Given the description of an element on the screen output the (x, y) to click on. 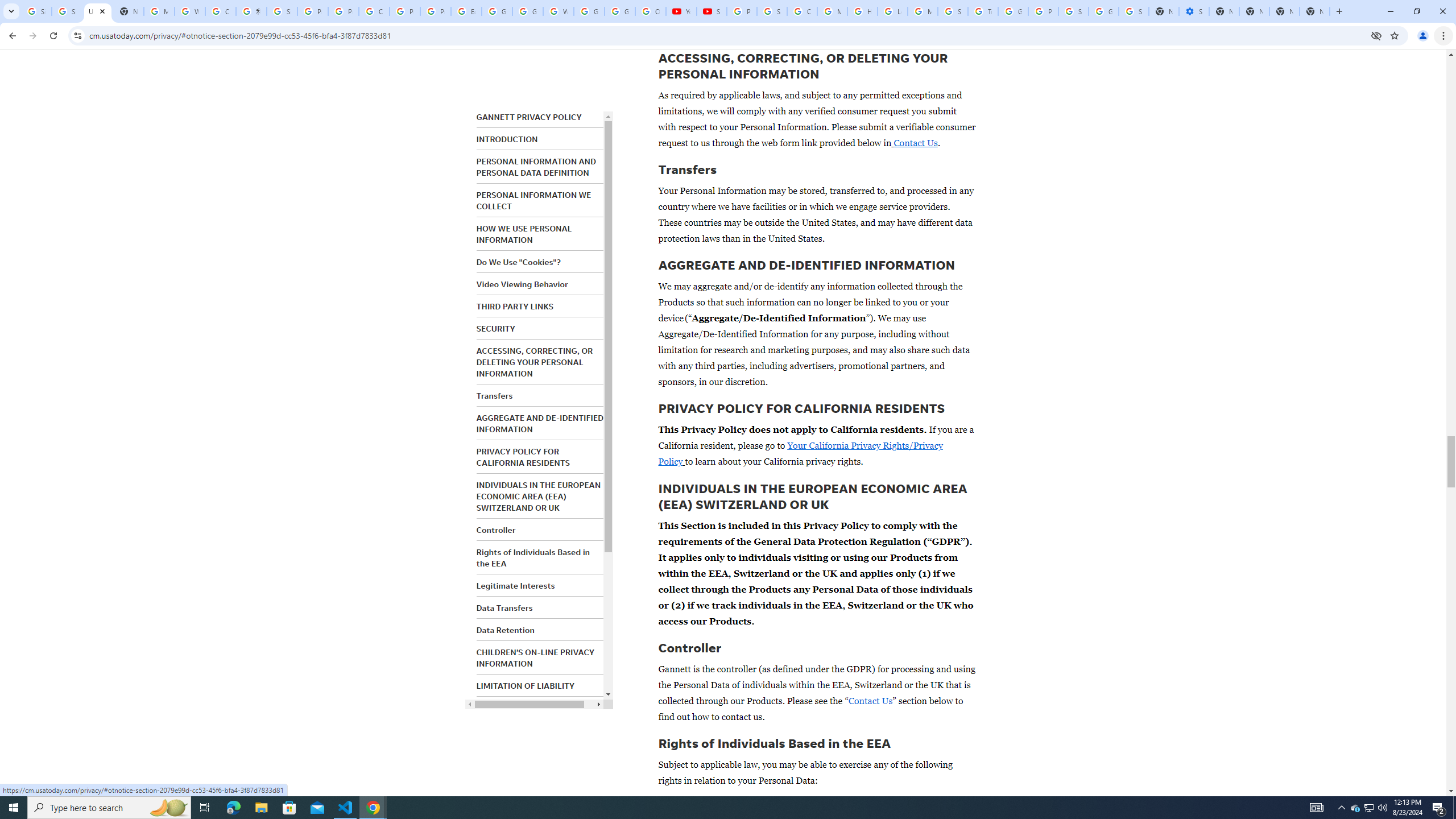
PERSONAL INFORMATION AND PERSONAL DATA DEFINITION (536, 166)
Data Retention (505, 629)
Data Transfers (504, 607)
Controller (495, 529)
INTRODUCTION (507, 139)
Your California Privacy Rights/Privacy Policy (800, 453)
Create your Google Account (220, 11)
